Given the description of an element on the screen output the (x, y) to click on. 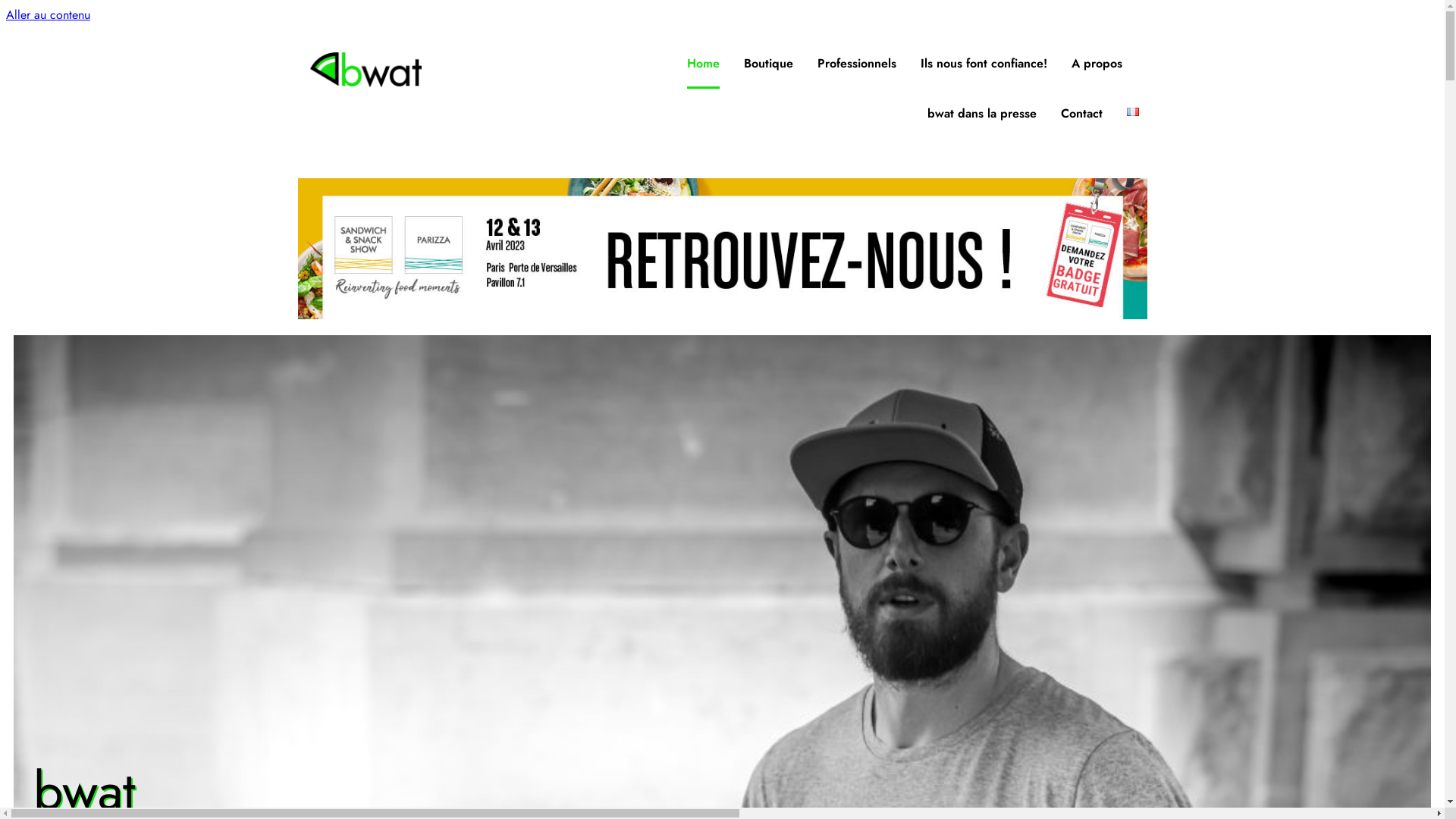
Contact Element type: text (1081, 113)
Ils nous font confiance! Element type: text (983, 63)
Aller au contenu Element type: text (48, 14)
bwat dans la presse Element type: text (981, 113)
Boutique Element type: text (768, 63)
Home Element type: text (703, 63)
A propos Element type: text (1096, 63)
Professionnels Element type: text (856, 63)
